Given the description of an element on the screen output the (x, y) to click on. 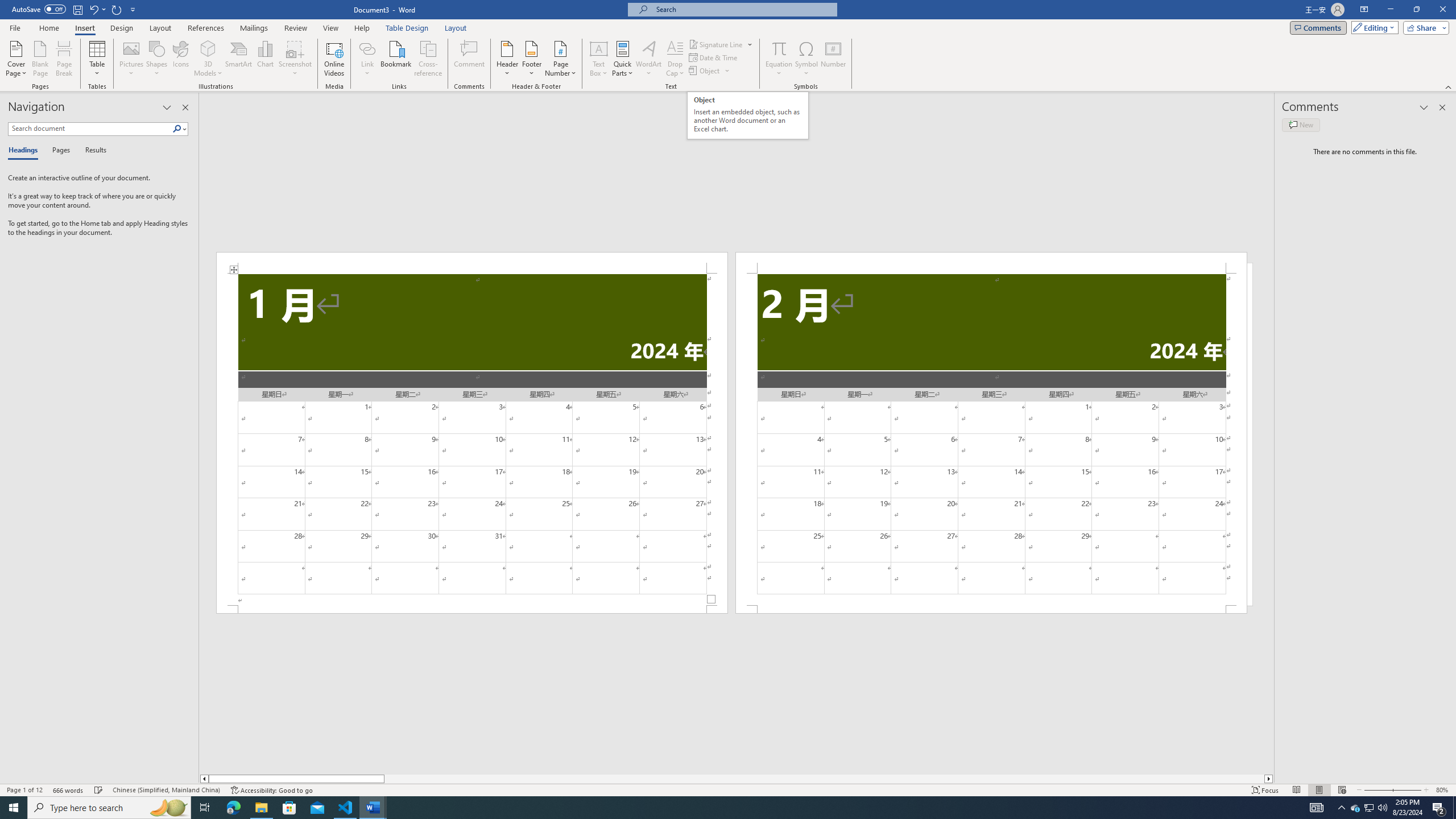
Header (507, 58)
Quick Parts (622, 58)
Symbol (806, 58)
3D Models (208, 48)
Undo Increase Indent (96, 9)
Page 2 content (991, 439)
Shapes (156, 58)
Comment (469, 58)
Table (97, 58)
Mode (1372, 27)
Class: MsoCommandBar (728, 789)
3D Models (208, 58)
Spelling and Grammar Check Checking (98, 790)
